Given the description of an element on the screen output the (x, y) to click on. 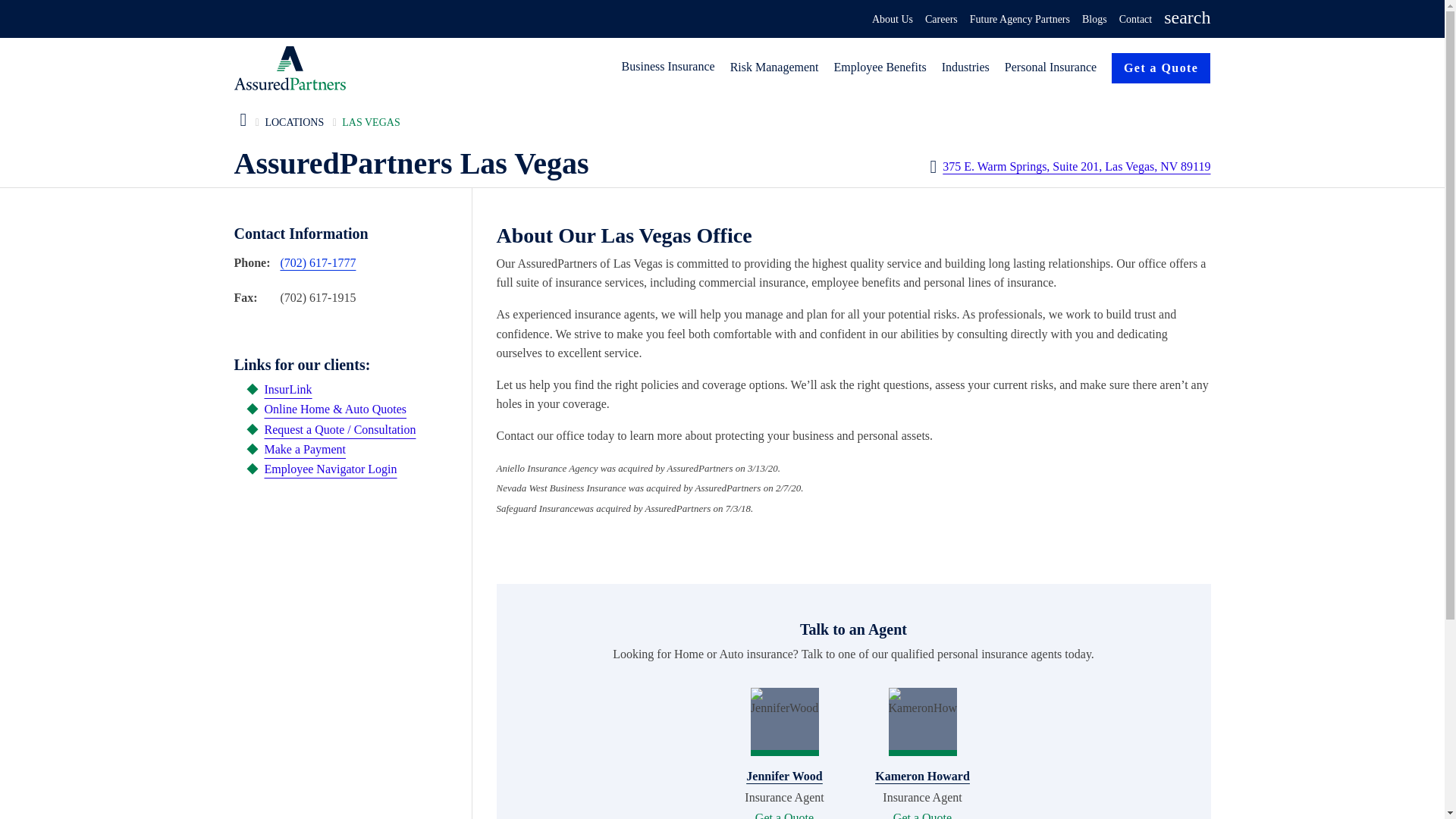
Future Agency Partners (1019, 19)
Blogs (1093, 19)
Careers (941, 19)
Business Insurance (669, 66)
About Us (892, 19)
search (1186, 19)
Contact (1136, 19)
